Given the description of an element on the screen output the (x, y) to click on. 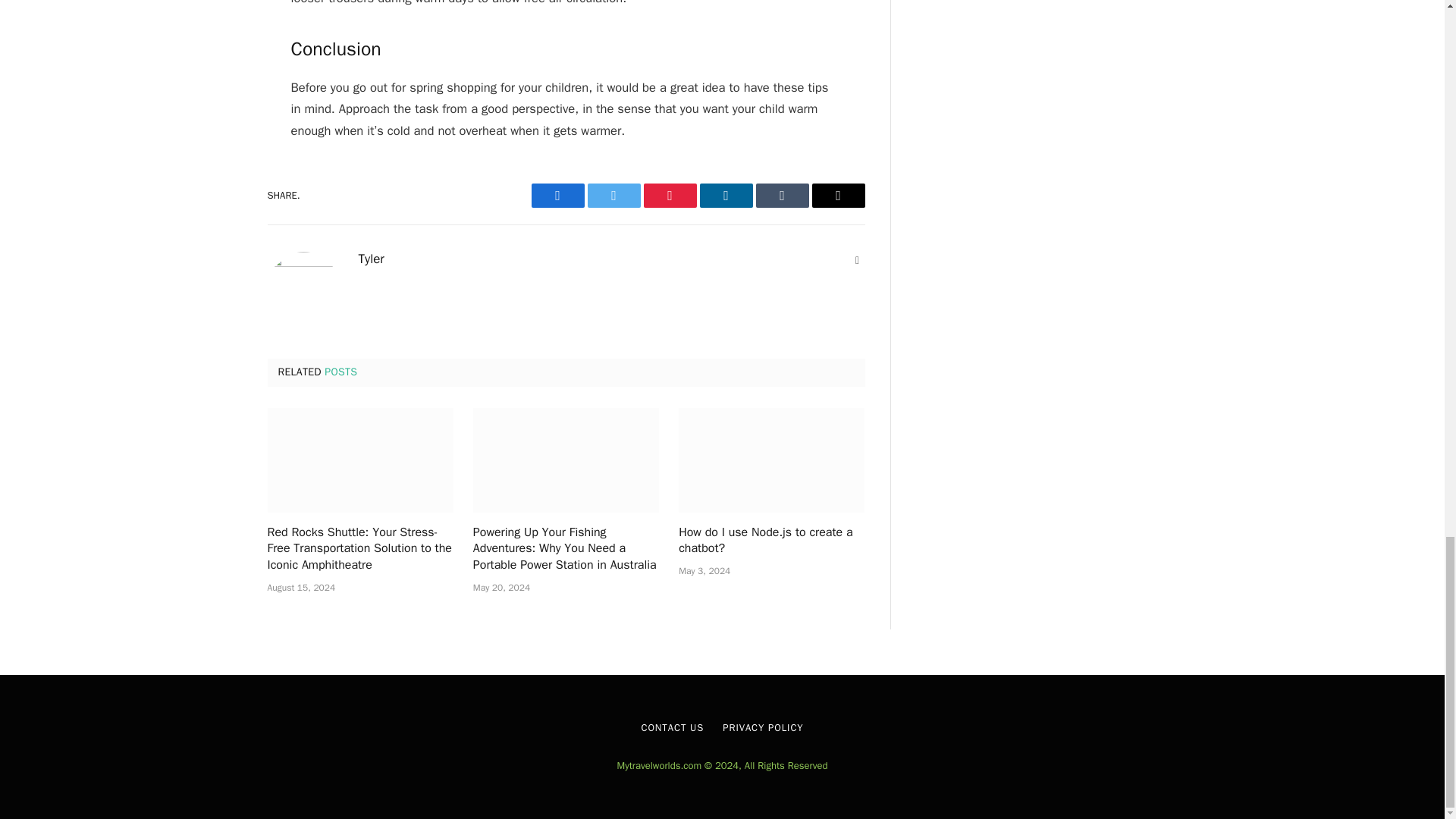
Facebook (557, 195)
LinkedIn (725, 195)
Pinterest (669, 195)
Twitter (613, 195)
